Given the description of an element on the screen output the (x, y) to click on. 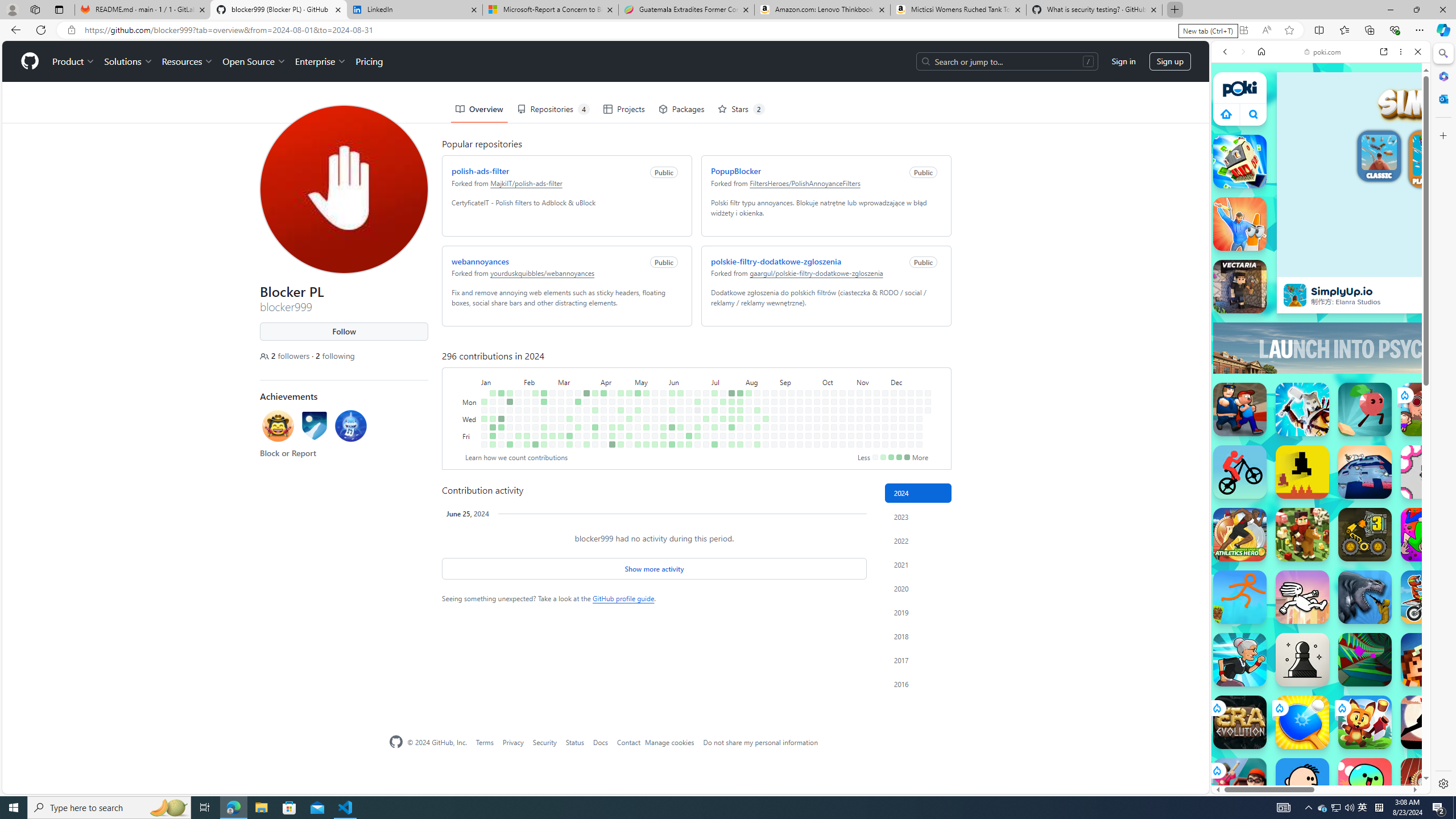
100 Metres Race 100 Metres Race (1427, 784)
Two Player Games (1320, 323)
No contributions on October 7th. (825, 401)
4 contributions on July 13th. (714, 444)
1 contribution on February 11th. (535, 392)
No contributions on March 10th. (569, 392)
No contributions on January 25th. (509, 427)
12 contributions on April 20th. (611, 444)
2022 (917, 540)
No contributions on October 13th. (834, 392)
No contributions on October 2nd. (816, 418)
PLAYGROUND (1433, 160)
No contributions on July 8th. (714, 401)
